Given the description of an element on the screen output the (x, y) to click on. 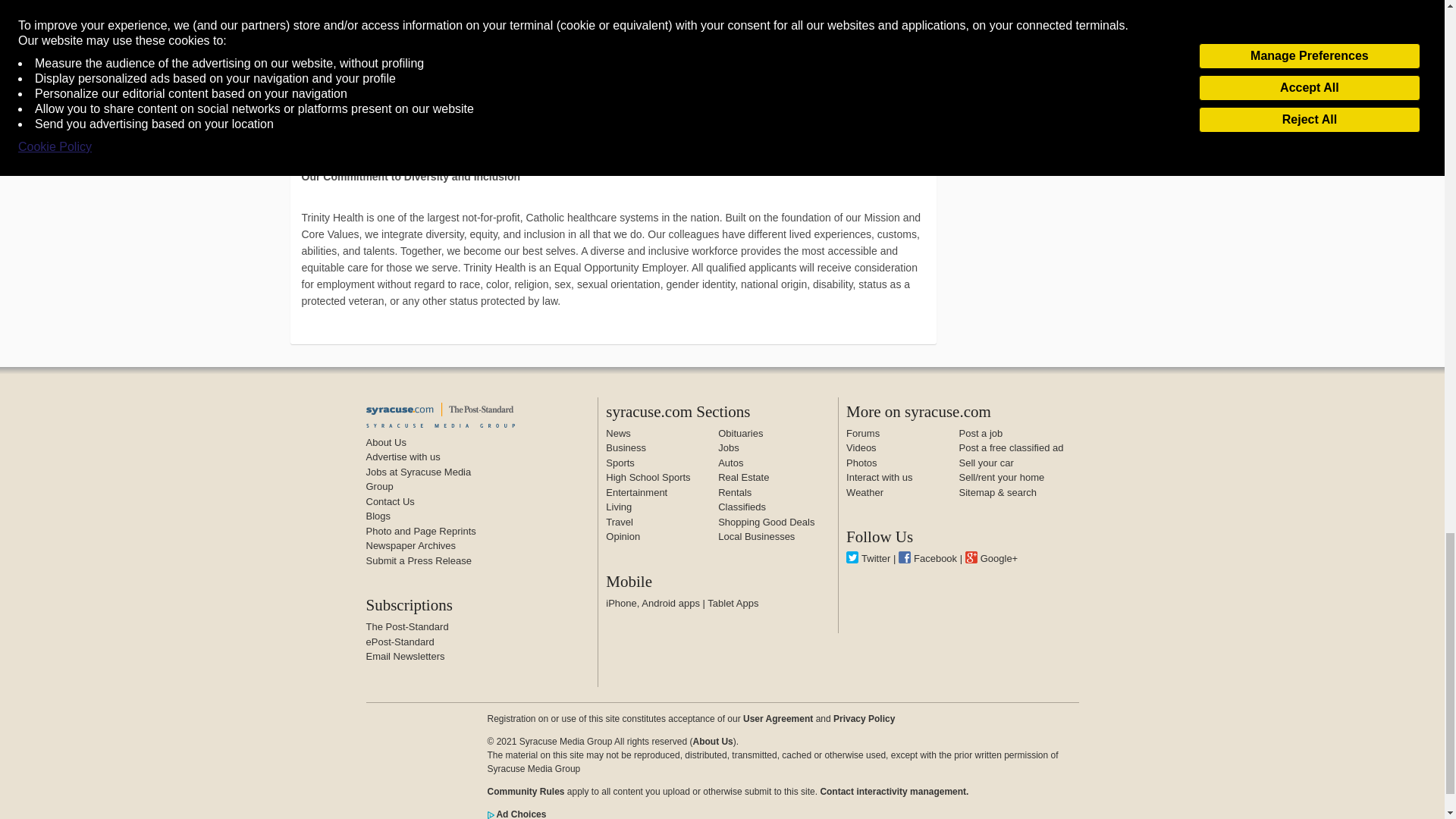
User Agreement (777, 717)
Privacy Policy (863, 717)
Contact Interactivity Management (893, 791)
Contact Us (389, 501)
Community Rules (525, 791)
